Given the description of an element on the screen output the (x, y) to click on. 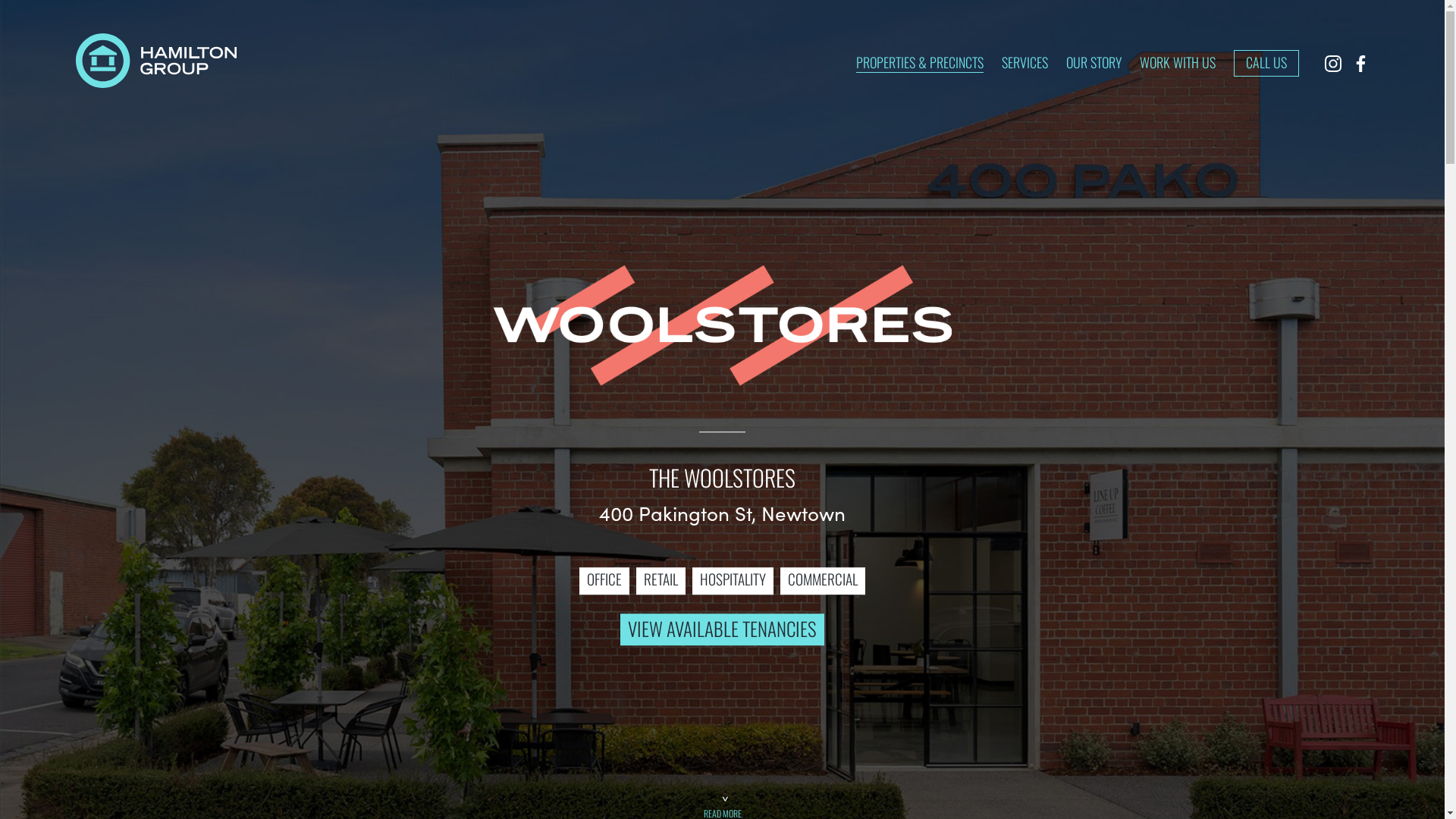
OUR STORY Element type: text (1093, 62)
Follow us on Facebook Element type: text (1360, 63)
WORK WITH US Element type: text (1177, 62)
Find us on Instagram Element type: text (1332, 63)
CALL US Element type: text (1266, 63)
SERVICES Element type: text (1024, 62)
PROPERTIES & PRECINCTS Element type: text (919, 62)
